Given the description of an element on the screen output the (x, y) to click on. 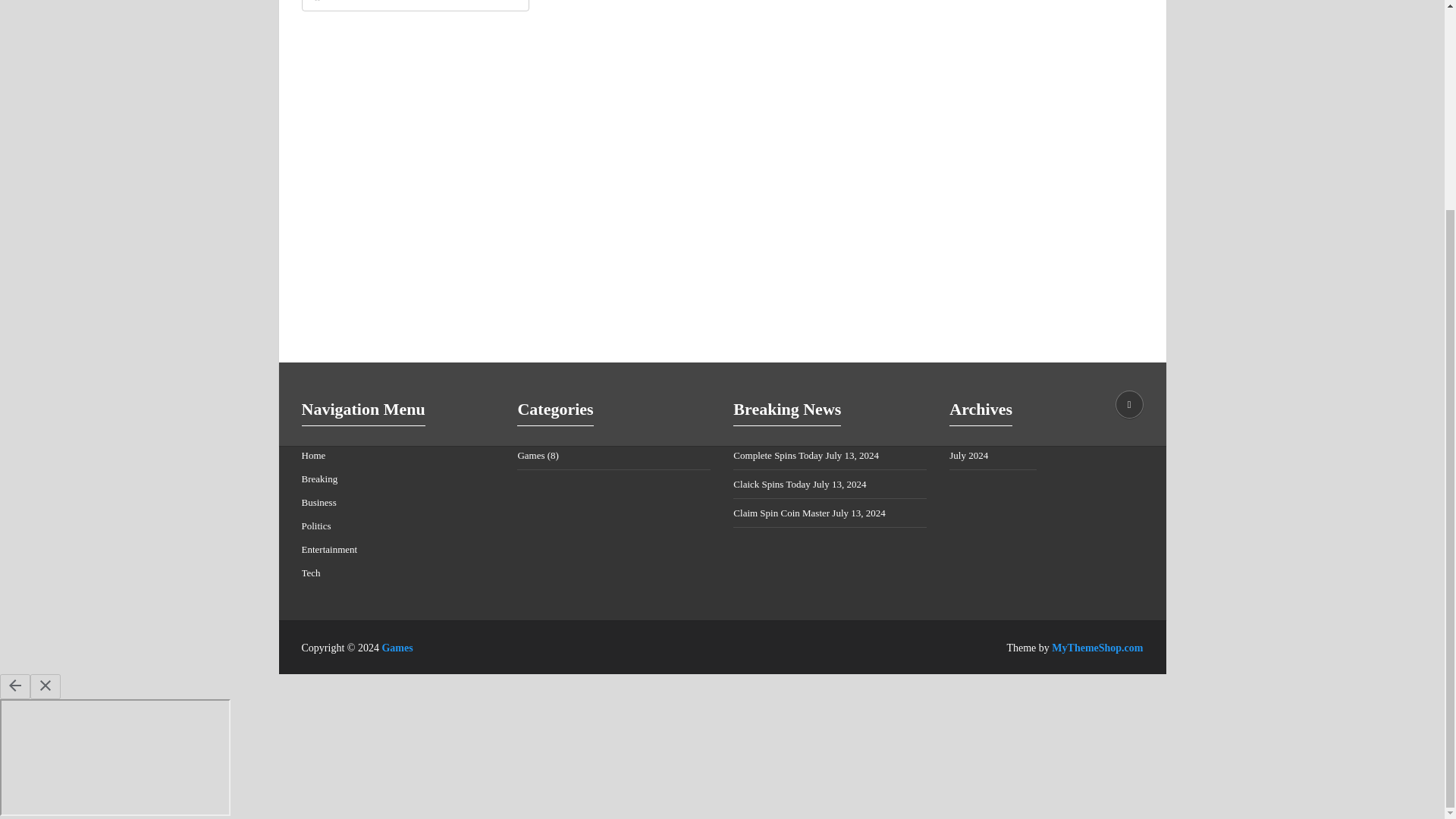
Home (313, 455)
Breaking (319, 478)
Complete Spins Today (777, 455)
Tech (310, 572)
July 2024 (968, 455)
Claim Spin Coin Master (781, 512)
Politics (316, 525)
Games (530, 455)
Claick Spins Today (771, 483)
